Given the description of an element on the screen output the (x, y) to click on. 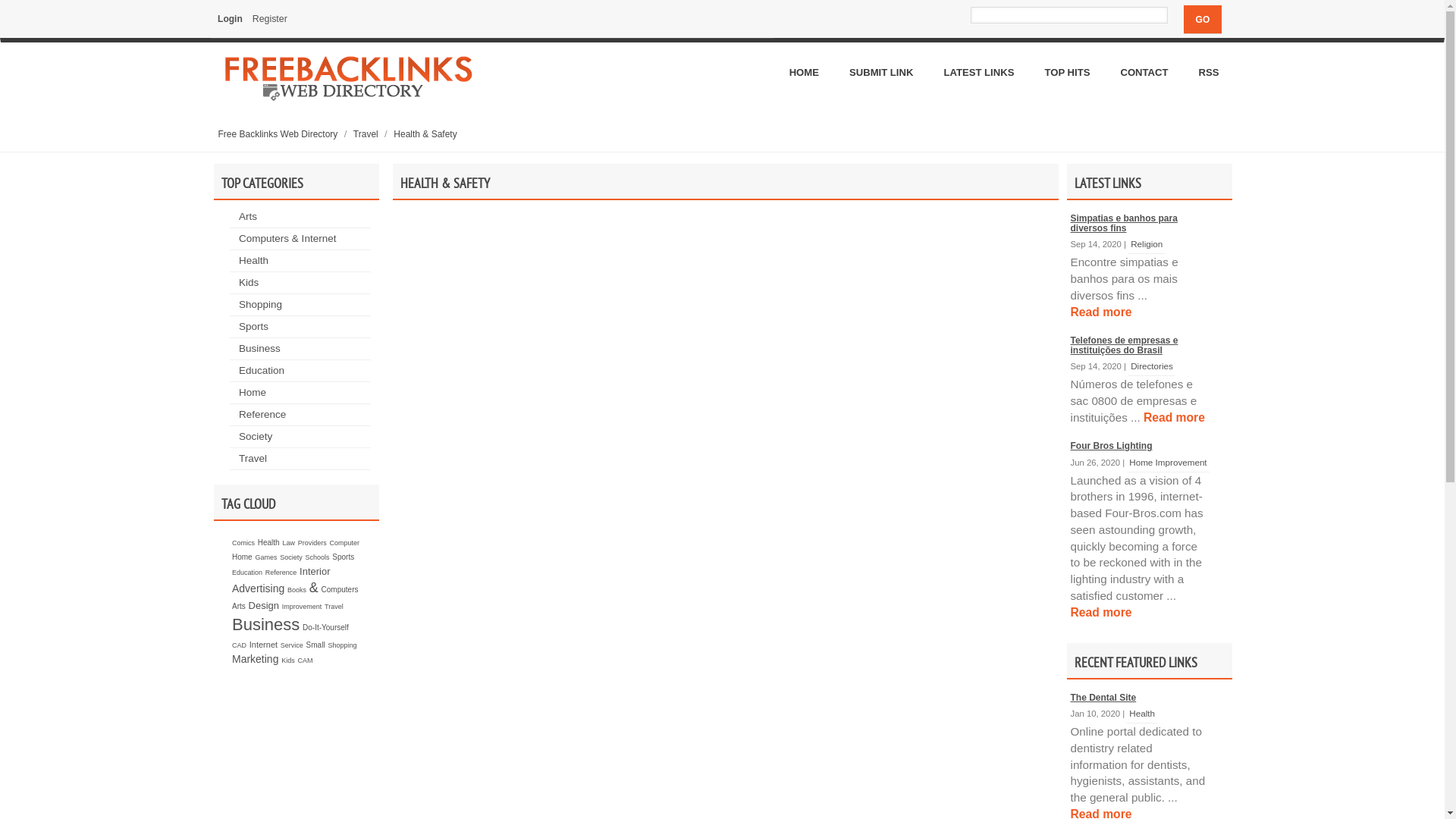
Free Backlinks Web Directory Element type: text (279, 133)
LATEST LINKS Element type: text (978, 72)
Travel Element type: text (366, 133)
SUBMIT LINK Element type: text (881, 72)
CAD Element type: text (239, 645)
Interior Element type: text (314, 571)
Education Element type: text (247, 572)
Religion Element type: text (1146, 243)
Internet Element type: text (263, 644)
Sports Element type: text (253, 326)
Simpatias e banhos para diversos fins Element type: text (1123, 223)
CAM Element type: text (304, 660)
& Element type: text (313, 587)
Travel Element type: text (333, 606)
Four Bros Lighting Element type: text (1111, 445)
The Dental Site Element type: text (1103, 697)
HOME Element type: text (804, 72)
Service Element type: text (291, 645)
Education Element type: text (261, 370)
Shopping Element type: text (341, 645)
Travel Element type: text (252, 458)
Arts Element type: text (238, 606)
Health Element type: text (253, 260)
Shopping Element type: text (260, 304)
Business Element type: text (259, 348)
GO Element type: text (1202, 19)
Kids Element type: text (248, 282)
Login Element type: text (229, 18)
Arts Element type: text (247, 216)
Schools Element type: text (316, 557)
Free Backlinks Web Directory Element type: hover (349, 83)
Home Element type: text (242, 556)
Reference Element type: text (281, 572)
RSS Element type: text (1208, 72)
Design Element type: text (263, 605)
Do-It-Yourself Element type: text (325, 627)
Law Element type: text (288, 542)
Home Element type: text (252, 392)
Read more Element type: text (1101, 611)
Health Element type: text (268, 542)
Advertising Element type: text (258, 588)
Computers & Internet Element type: text (286, 238)
Small Element type: text (315, 644)
CONTACT Element type: text (1143, 72)
Books Element type: text (296, 589)
Improvement Element type: text (302, 606)
Reference Element type: text (261, 414)
Read more Element type: text (1101, 311)
Home Improvement Element type: text (1167, 461)
Society Element type: text (255, 436)
Health Element type: text (1141, 713)
Marketing Element type: text (255, 658)
Business Element type: text (265, 624)
Sports Element type: text (343, 556)
Kids Element type: text (287, 660)
Providers Element type: text (312, 542)
Health & Safety Element type: text (424, 133)
Society Element type: text (290, 557)
TOP HITS Element type: text (1066, 72)
Directories Element type: text (1151, 365)
Computers Element type: text (339, 589)
Computer Element type: text (344, 542)
Register Element type: text (269, 18)
Read more Element type: text (1173, 417)
Games Element type: text (265, 557)
Comics Element type: text (243, 542)
